Given the description of an element on the screen output the (x, y) to click on. 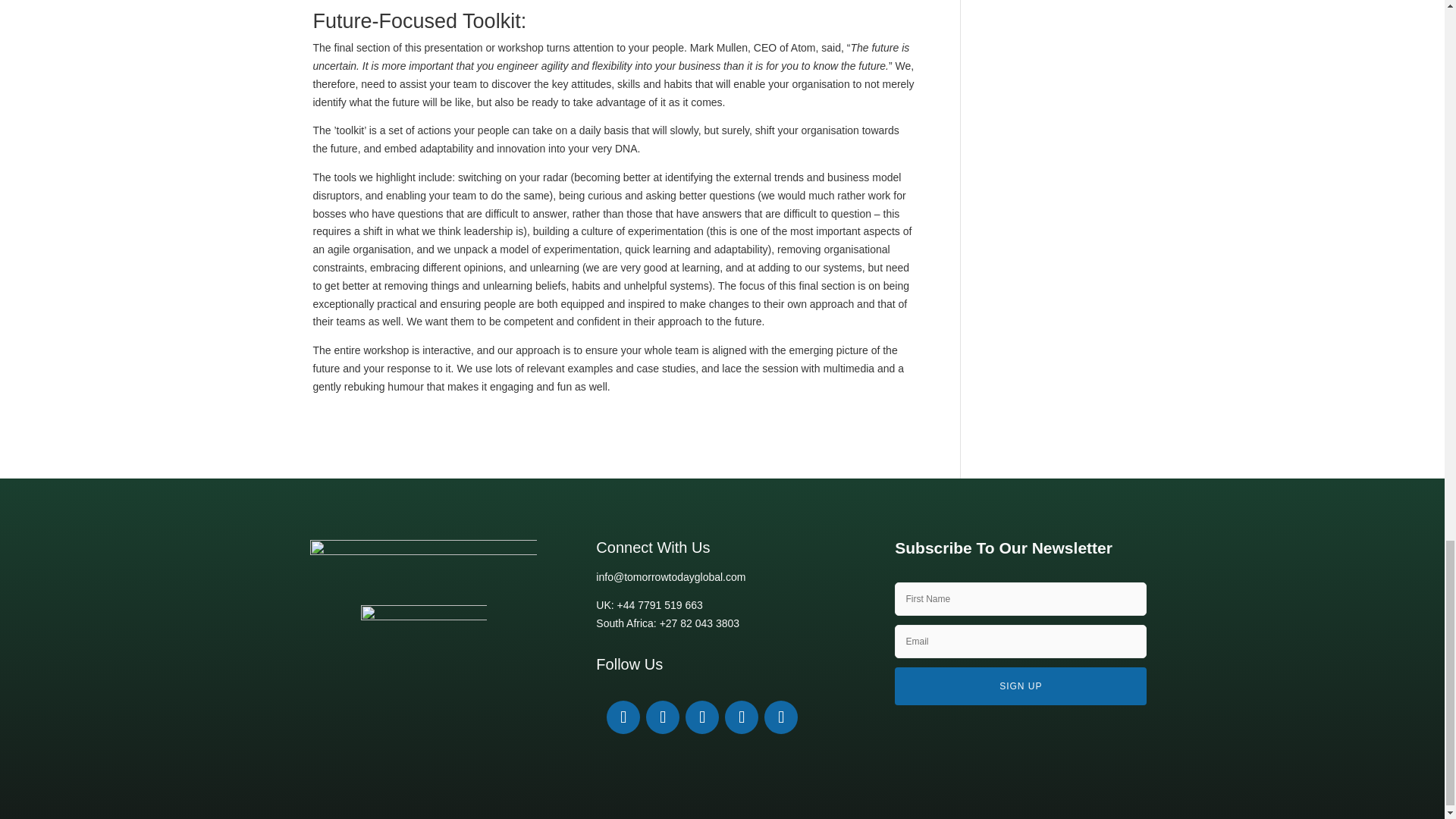
Follow on LinkedIn (623, 717)
SIGN UP (1021, 686)
Follow on Instagram (741, 717)
Logotype-footer (423, 562)
Follow on Youtube (702, 717)
Follow on Twitter (780, 717)
Follow on Facebook (662, 717)
